Given the description of an element on the screen output the (x, y) to click on. 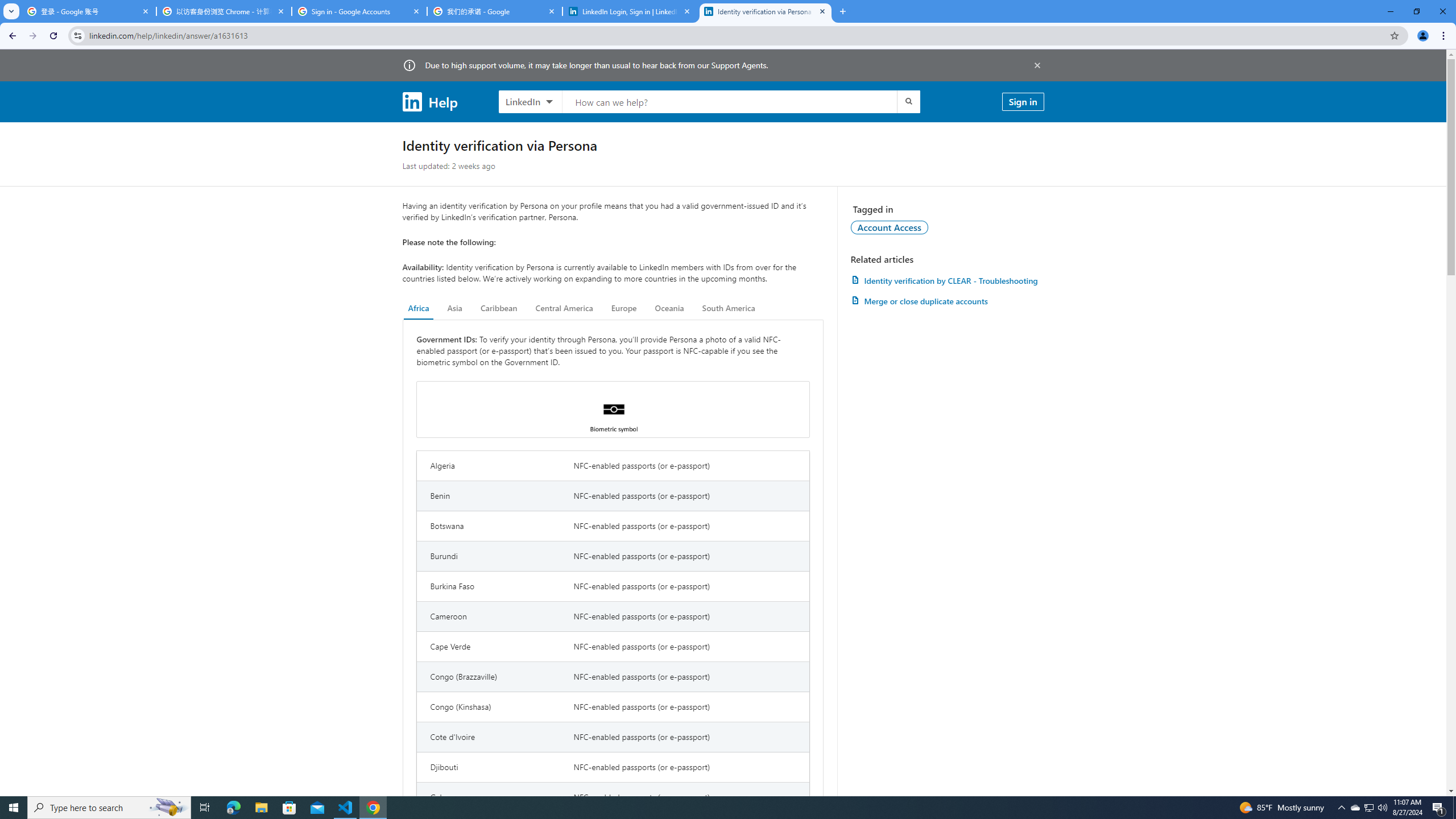
Merge or close duplicate accounts (946, 300)
AutomationID: article-link-a1337200 (946, 300)
Biometric symbol (612, 409)
Europe (623, 308)
AutomationID: article-link-a1457505 (946, 280)
LinkedIn products to search, LinkedIn selected (530, 101)
